Given the description of an element on the screen output the (x, y) to click on. 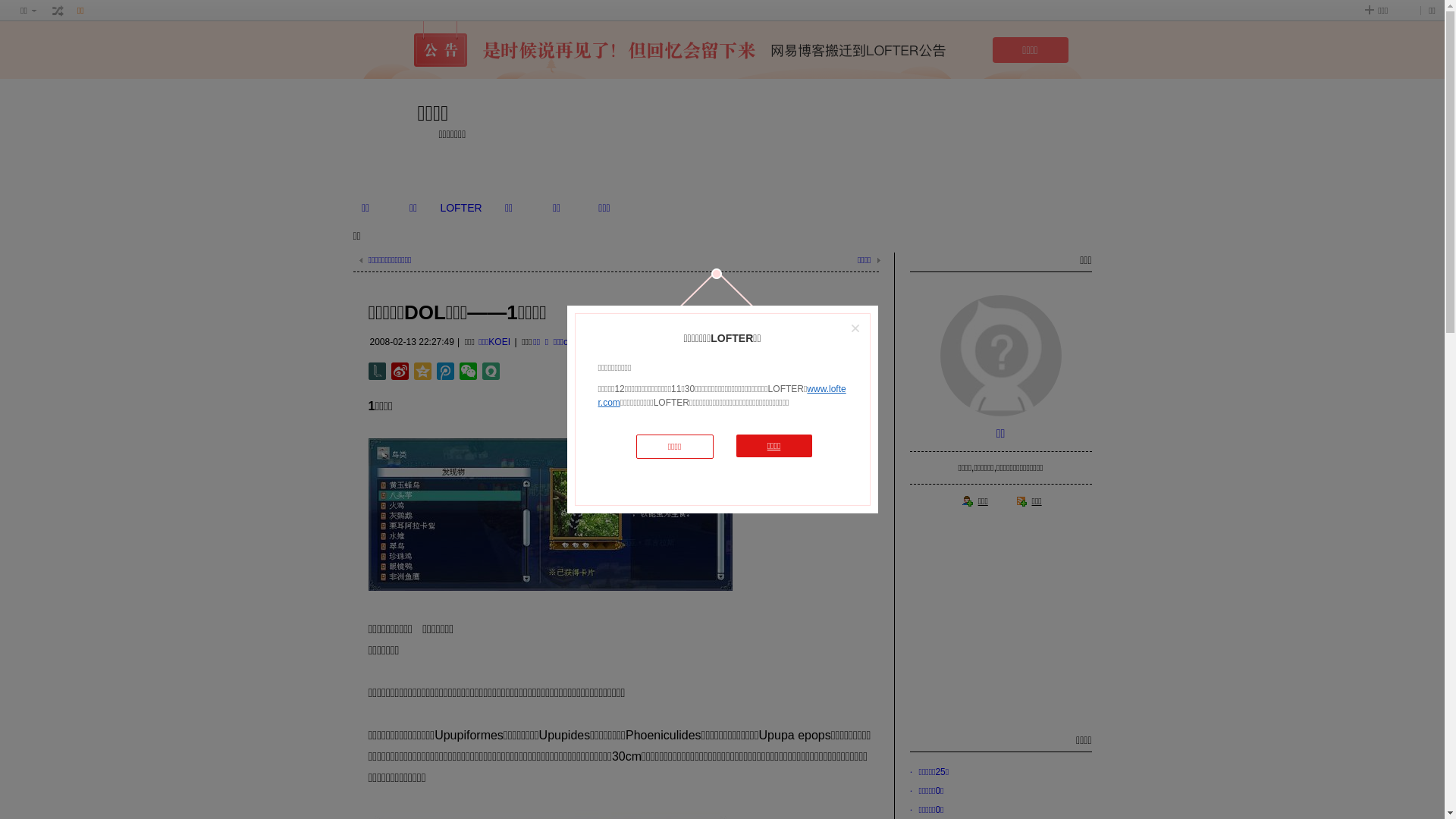
  Element type: text (58, 10)
LOFTER Element type: text (460, 207)
www.lofter.com Element type: text (721, 395)
